Given the description of an element on the screen output the (x, y) to click on. 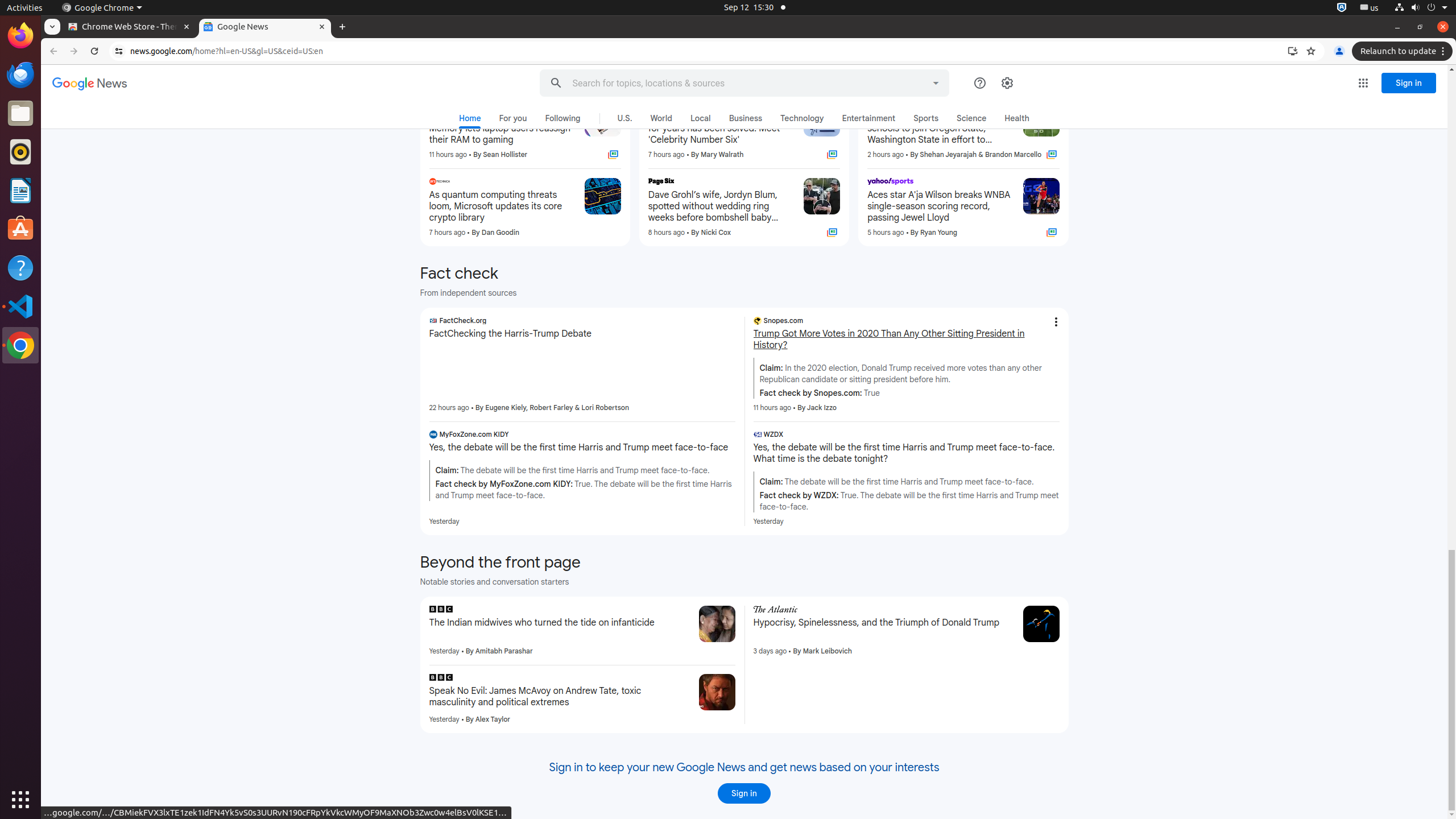
Google News Element type: link (89, 84)
More - Yes, the debate will be the first time Harris and Trump meet face-to-face Element type: push-button (731, 435)
:1.72/StatusNotifierItem Element type: menu (1341, 7)
Aces star A'ja Wilson breaks WNBA single-season scoring record, passing Jewel Lloyd Element type: link (940, 206)
Yes, the debate will be the first time Harris and Trump meet face-to-face. What time is the debate tonight? Element type: link (906, 452)
